Given the description of an element on the screen output the (x, y) to click on. 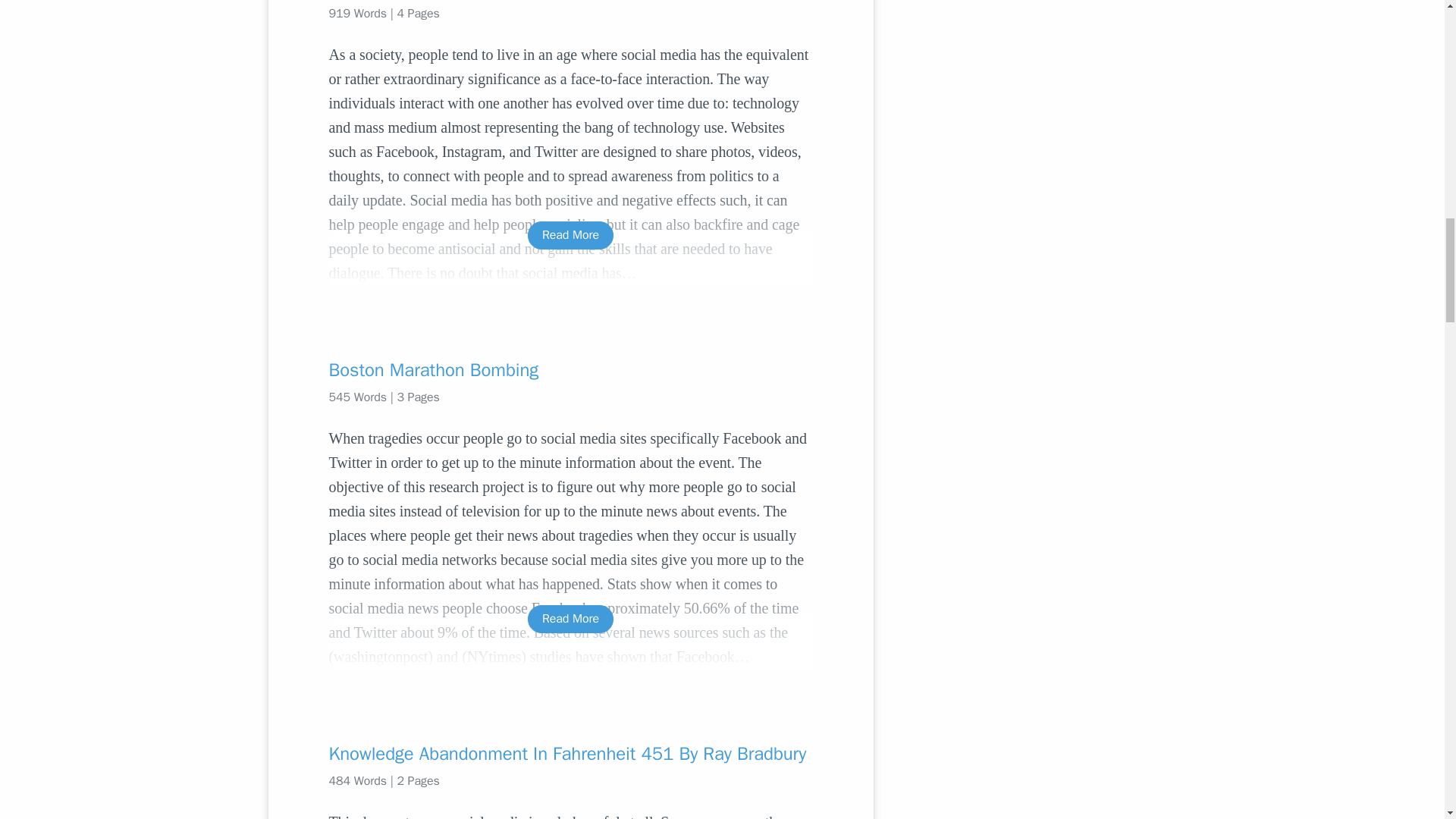
Read More (569, 619)
Read More (569, 235)
Knowledge Abandonment In Fahrenheit 451 By Ray Bradbury (570, 753)
Boston Marathon Bombing (570, 369)
